Given the description of an element on the screen output the (x, y) to click on. 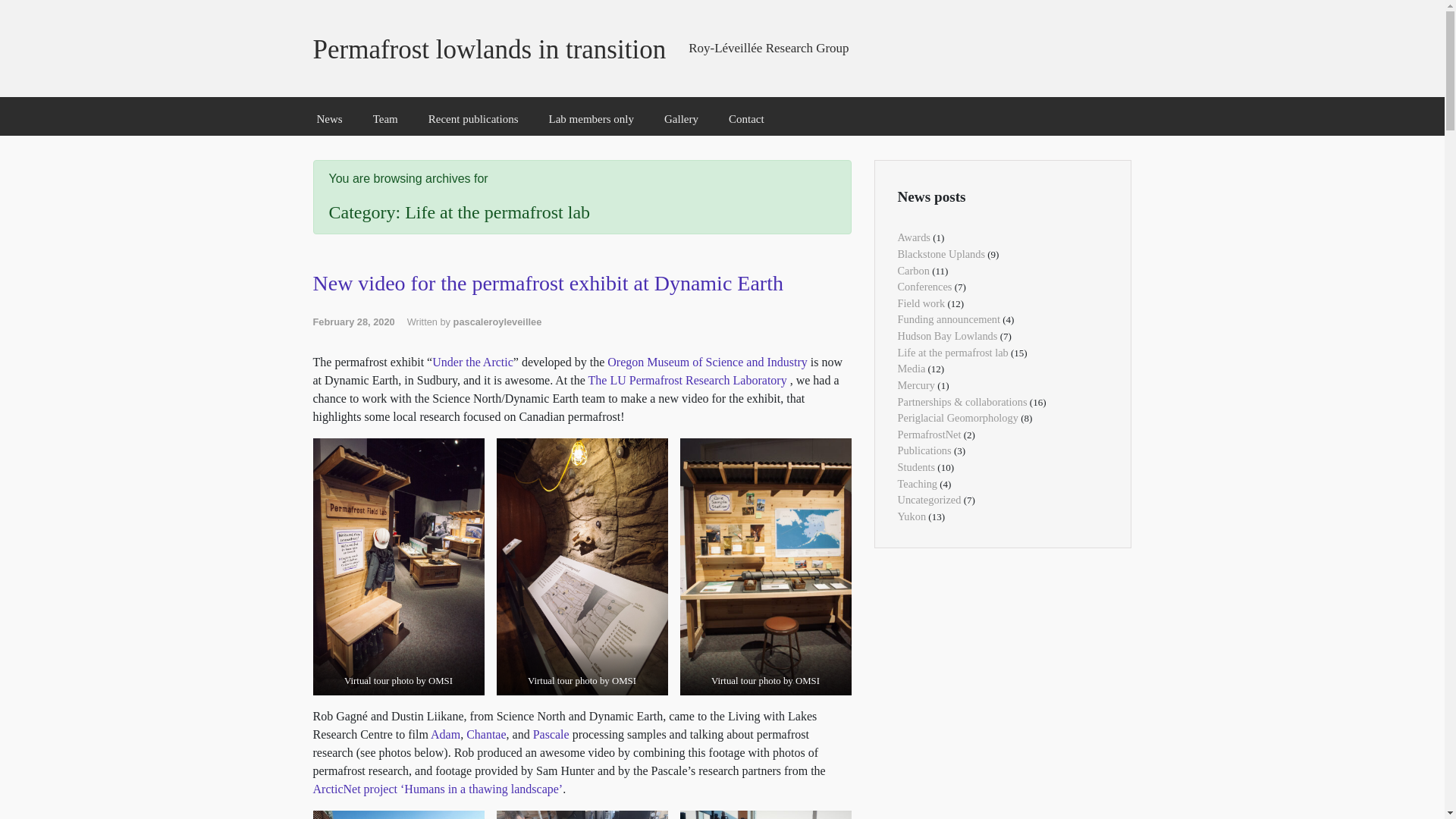
Skip to main content (17, 8)
News (330, 119)
Lab members only (591, 119)
View all posts by pascaleroyleveillee (496, 321)
Pascale (550, 734)
Gallery (681, 119)
pascaleroyleveillee (496, 321)
Adam (445, 734)
Contact (746, 119)
Under the Arctic (472, 361)
